Given the description of an element on the screen output the (x, y) to click on. 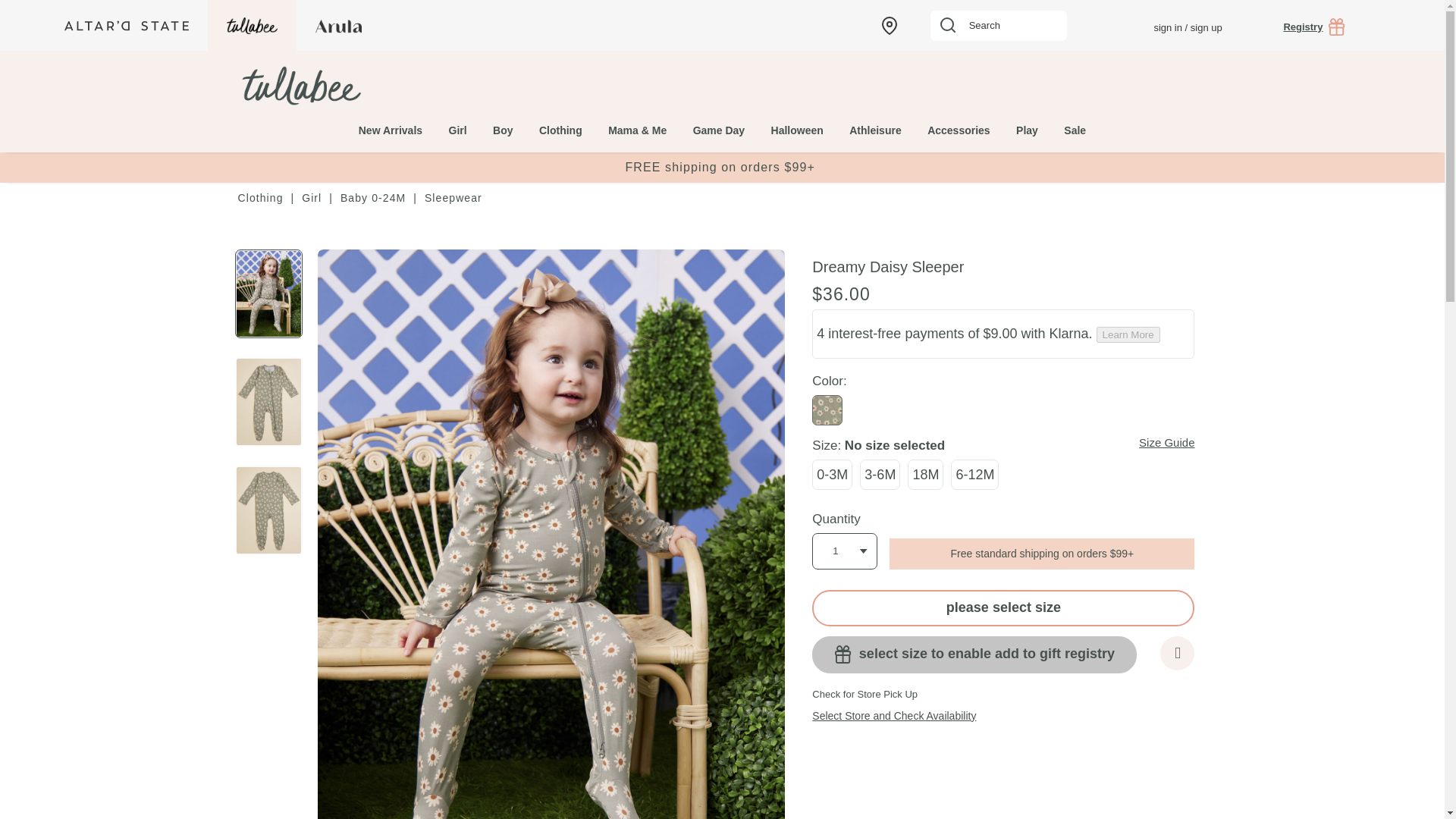
Store Locator (889, 24)
Registry (1312, 27)
View Cart (1385, 26)
My Favorites (1113, 26)
Store Locator (889, 24)
New Arrivals (390, 121)
tullabee (350, 85)
Registry (1312, 27)
Search (998, 25)
Tullabee Logo (299, 85)
